Given the description of an element on the screen output the (x, y) to click on. 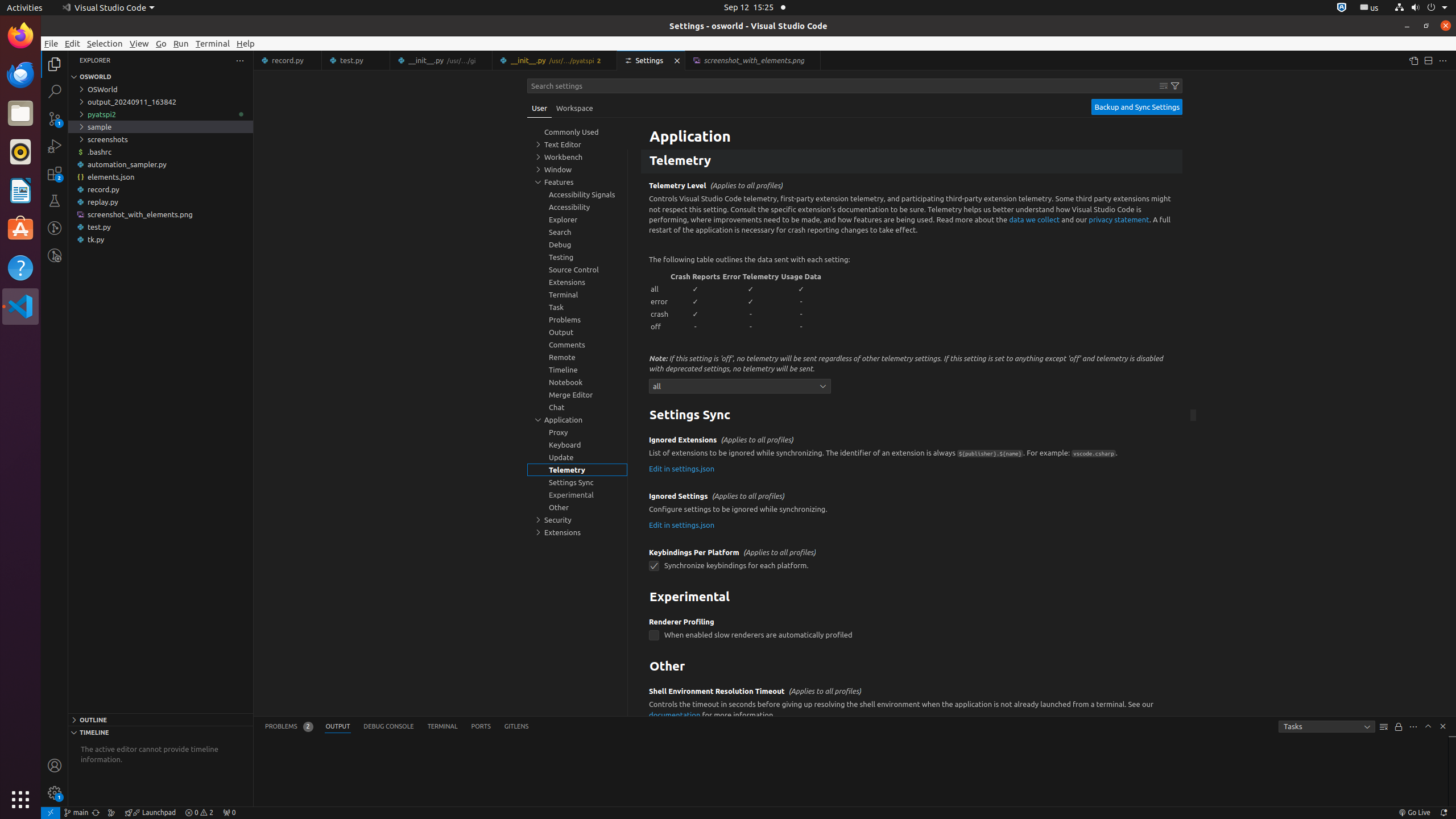
Show the GitLens Commit Graph Element type: push-button (111, 812)
Experimental Element type: tree-item (911, 597)
Extensions, group Element type: tree-item (577, 532)
